Given the description of an element on the screen output the (x, y) to click on. 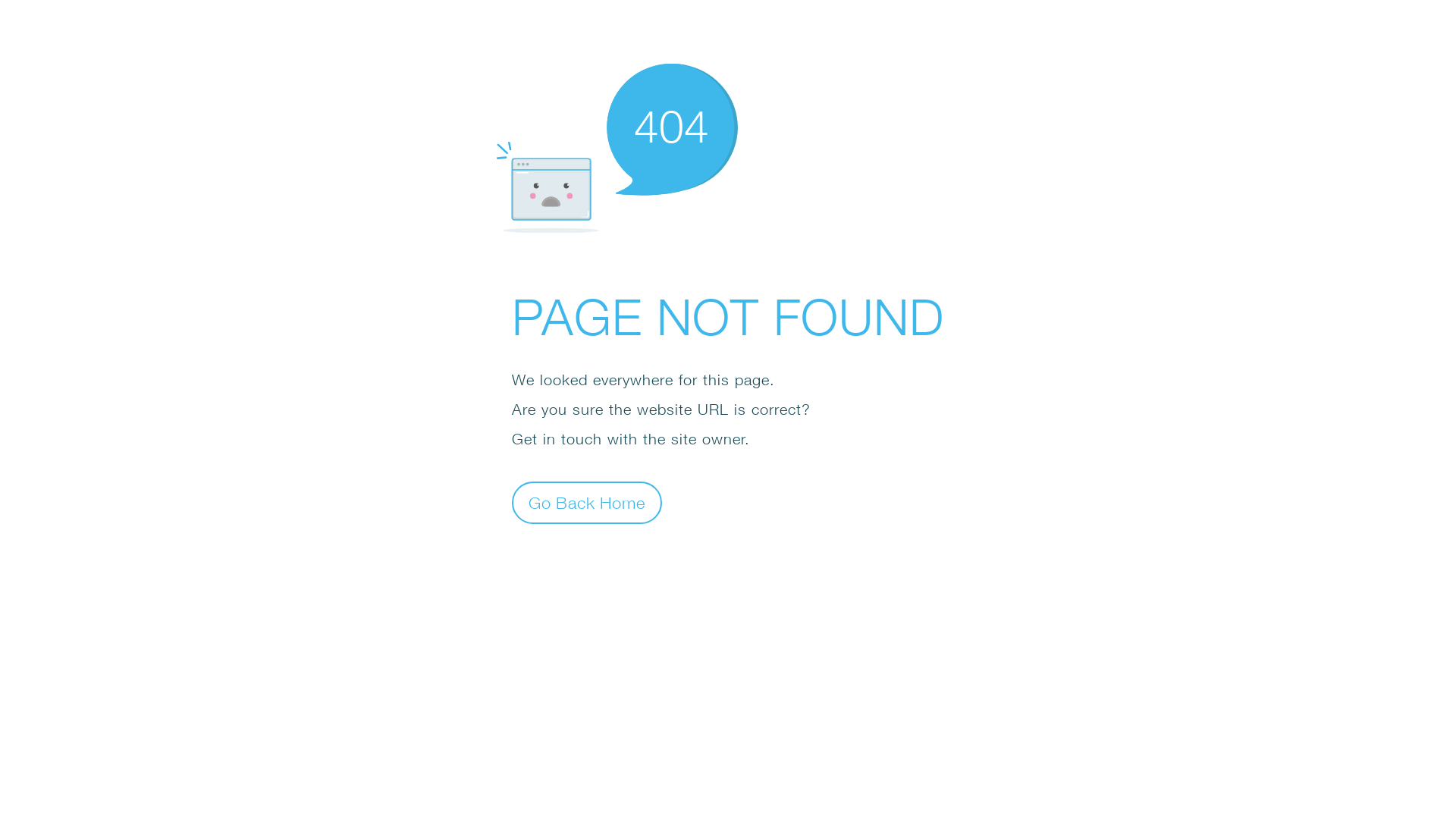
Go Back Home Element type: text (586, 502)
